Given the description of an element on the screen output the (x, y) to click on. 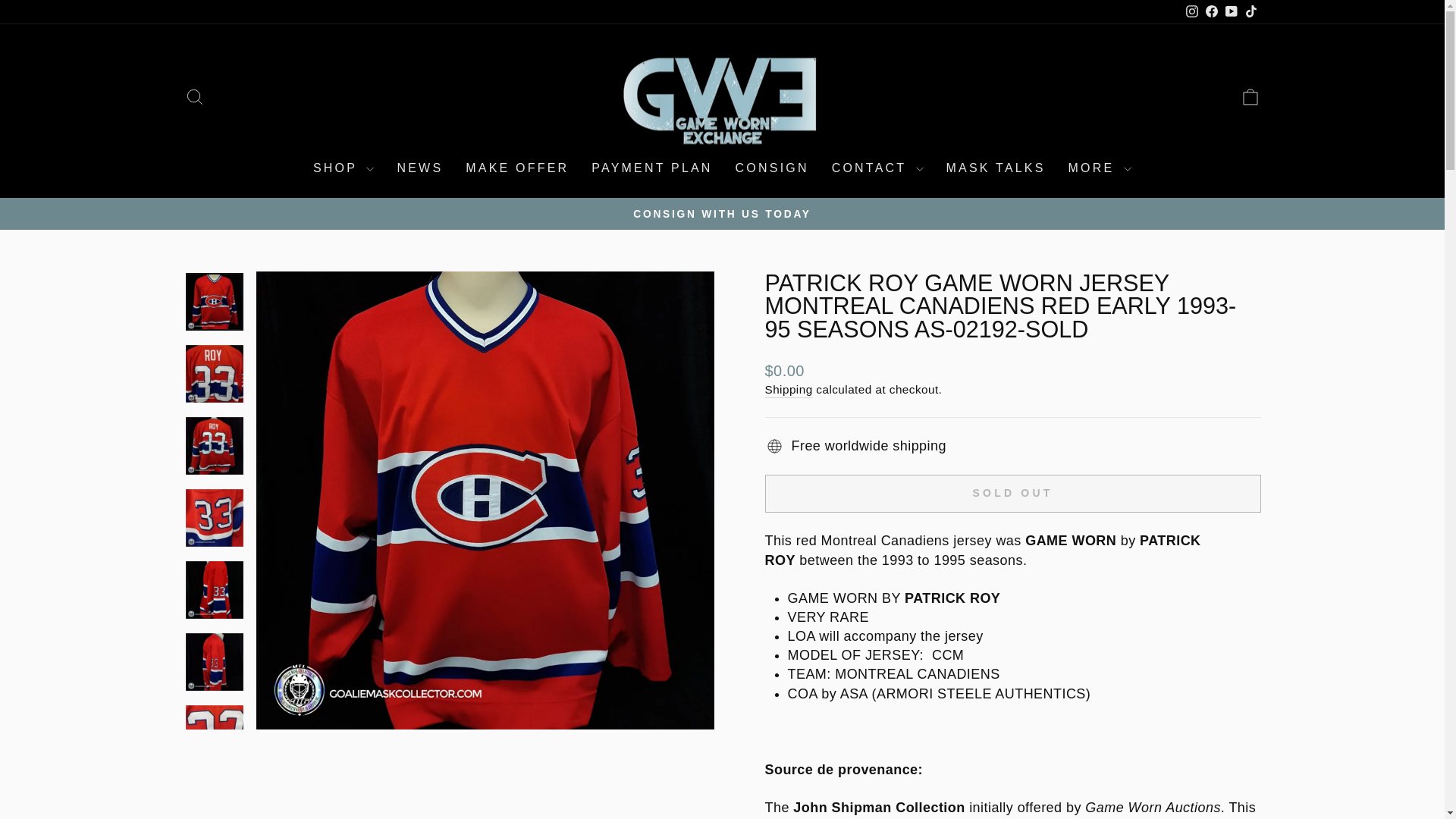
ICON-SEARCH (194, 96)
instagram (1192, 10)
ICON-BAG-MINIMAL (1249, 97)
